Given the description of an element on the screen output the (x, y) to click on. 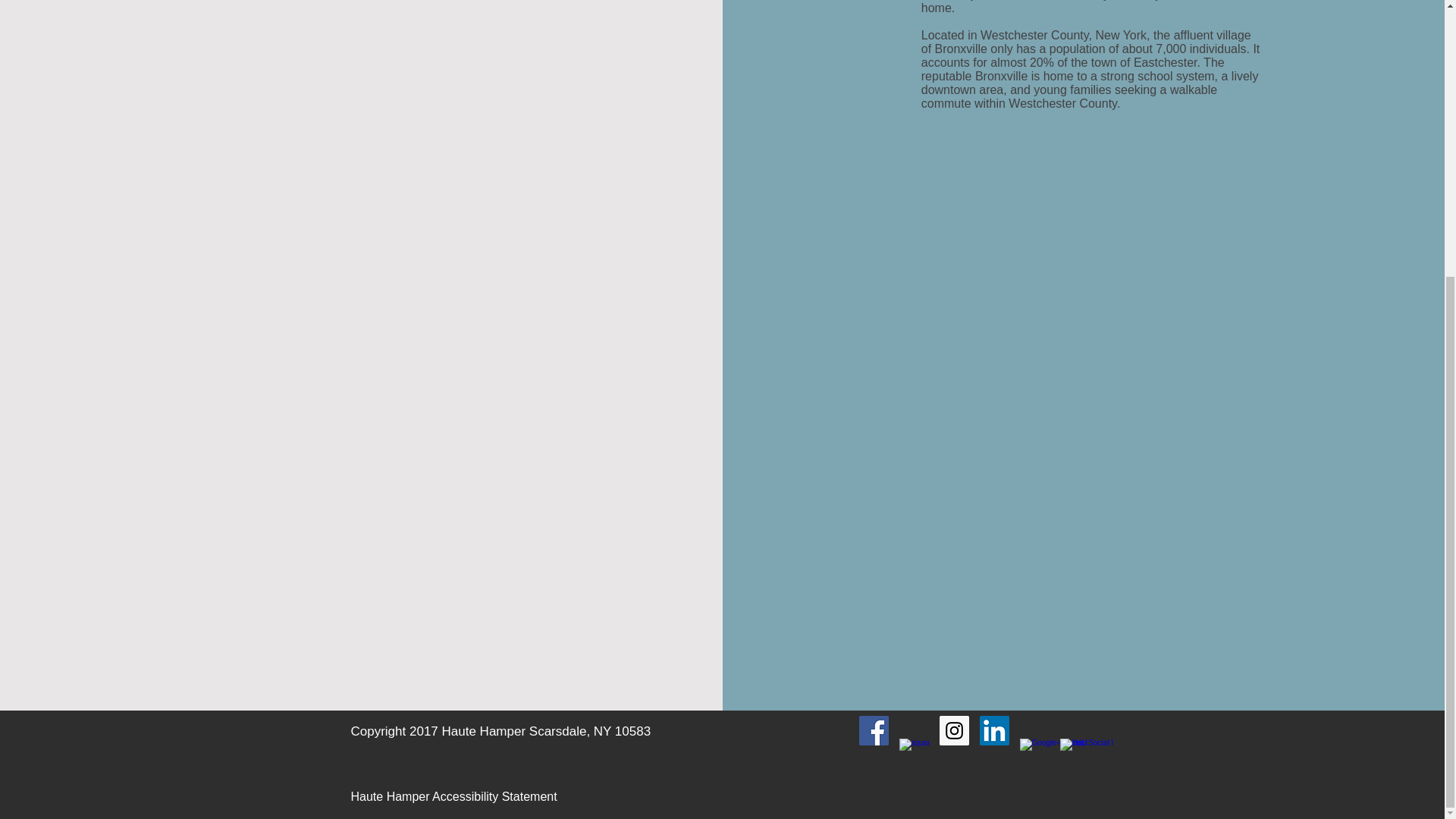
Haute Hamper Accessibility Statement (453, 796)
